Given the description of an element on the screen output the (x, y) to click on. 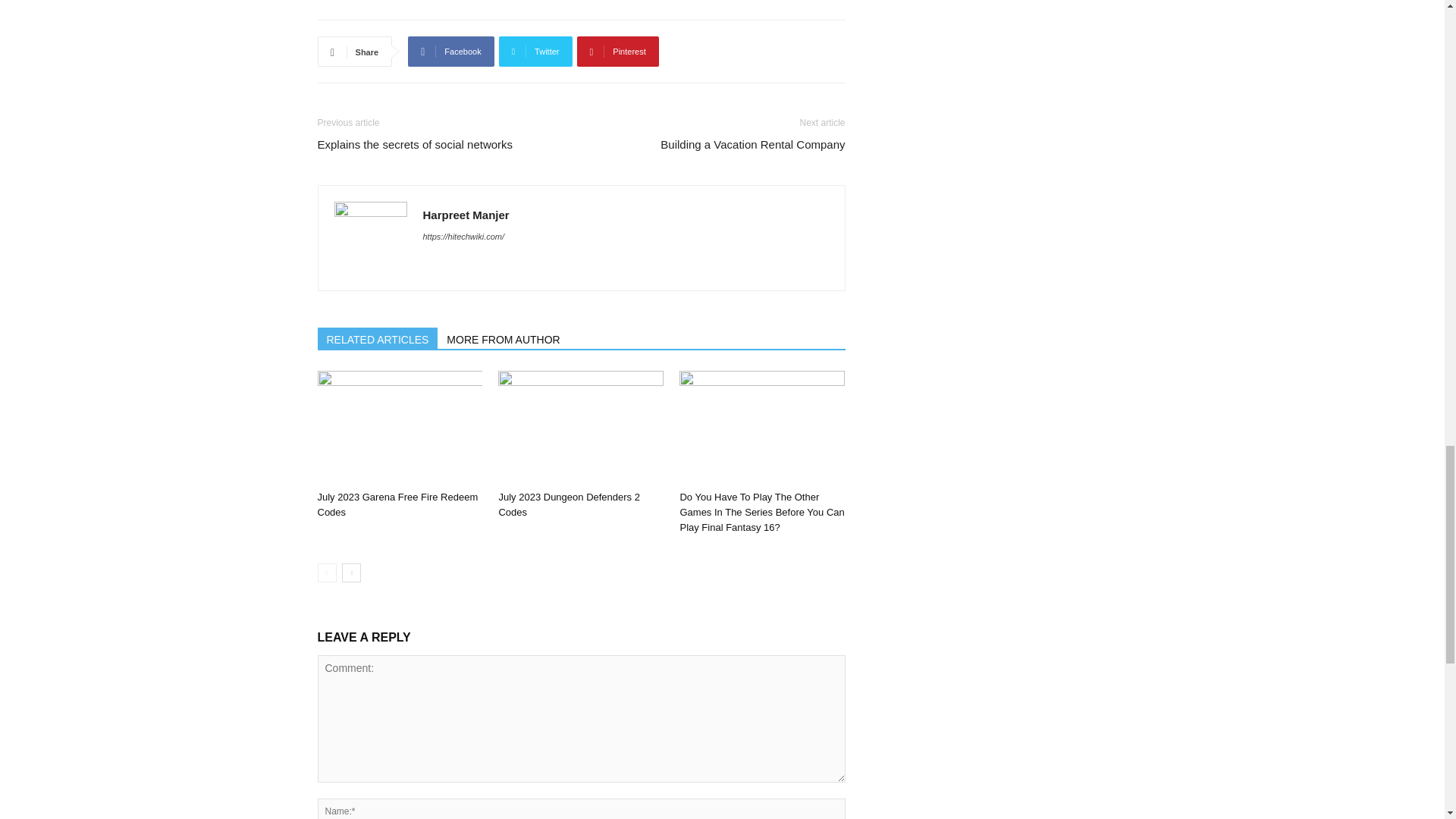
July 2023 Garena Free Fire Redeem Codes (397, 504)
July 2023 Dungeon Defenders 2 Codes (580, 427)
July 2023 Garena Free Fire Redeem Codes (399, 427)
July 2023 Dungeon Defenders 2 Codes (568, 504)
